Given the description of an element on the screen output the (x, y) to click on. 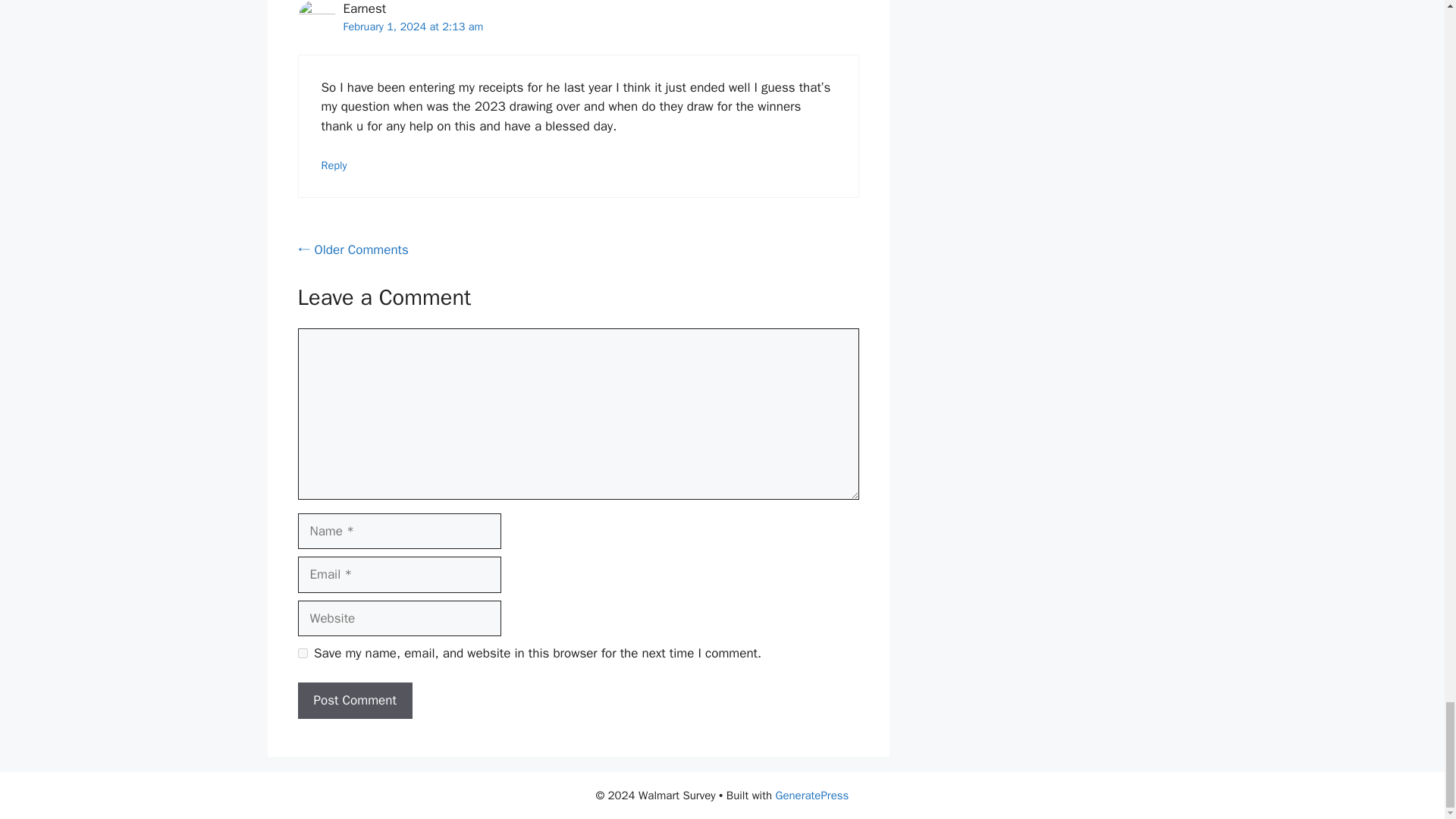
Post Comment (354, 700)
February 1, 2024 at 2:13 am (412, 26)
Post Comment (354, 700)
Reply (334, 164)
yes (302, 653)
GeneratePress (812, 794)
